Given the description of an element on the screen output the (x, y) to click on. 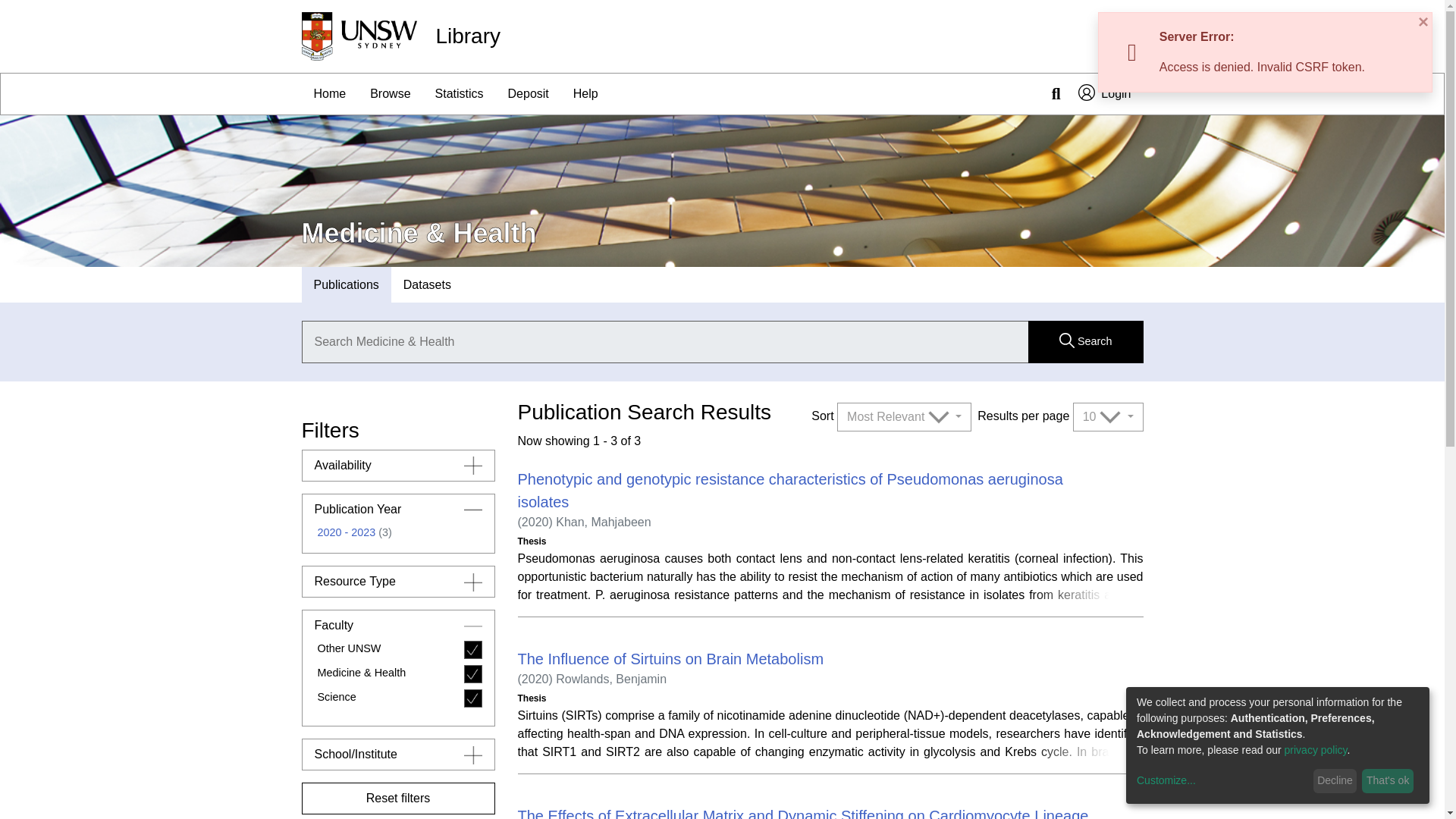
Search (1084, 342)
Home (329, 93)
Collapse filter (472, 509)
Publications (346, 284)
Expand filter (472, 754)
Expand filter (472, 581)
Help (585, 93)
Reset filters (398, 798)
Statistics (459, 93)
Sort (904, 416)
Browse (390, 93)
Collapse filter (472, 625)
Science (397, 701)
Deposit (528, 93)
Expand filter (472, 465)
